Given the description of an element on the screen output the (x, y) to click on. 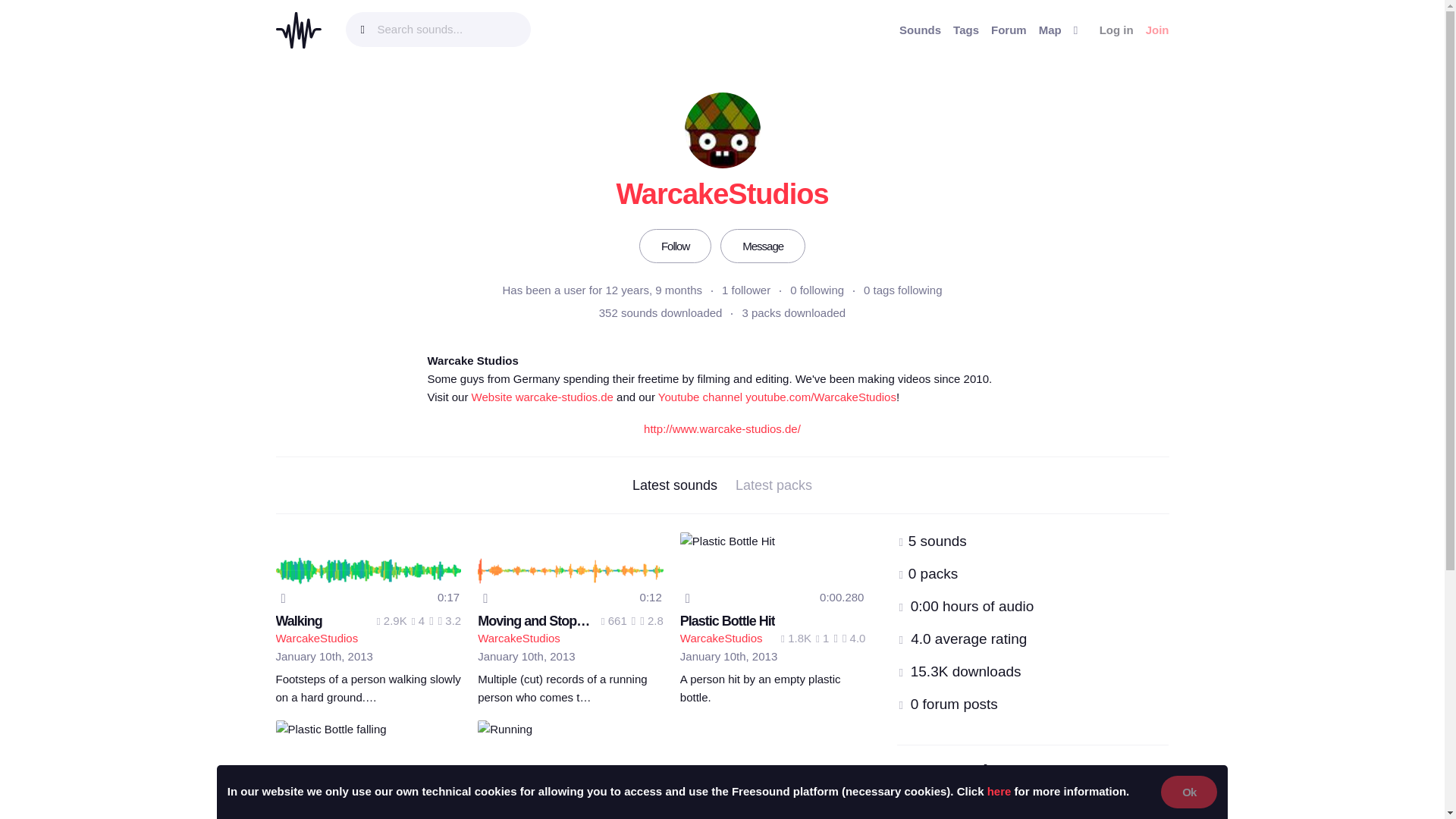
Forum (1008, 30)
Moving and Stopping (539, 620)
Username: WarcakeStudios (518, 637)
0 tags following (902, 289)
Walking (298, 620)
352 sounds downloaded (660, 312)
Tags (965, 30)
Join (1157, 29)
Username: WarcakeStudios (317, 637)
Log in (1116, 29)
661 downloads (614, 620)
Follow (675, 245)
Sounds (919, 30)
Website warcake-studios.de (541, 396)
